Given the description of an element on the screen output the (x, y) to click on. 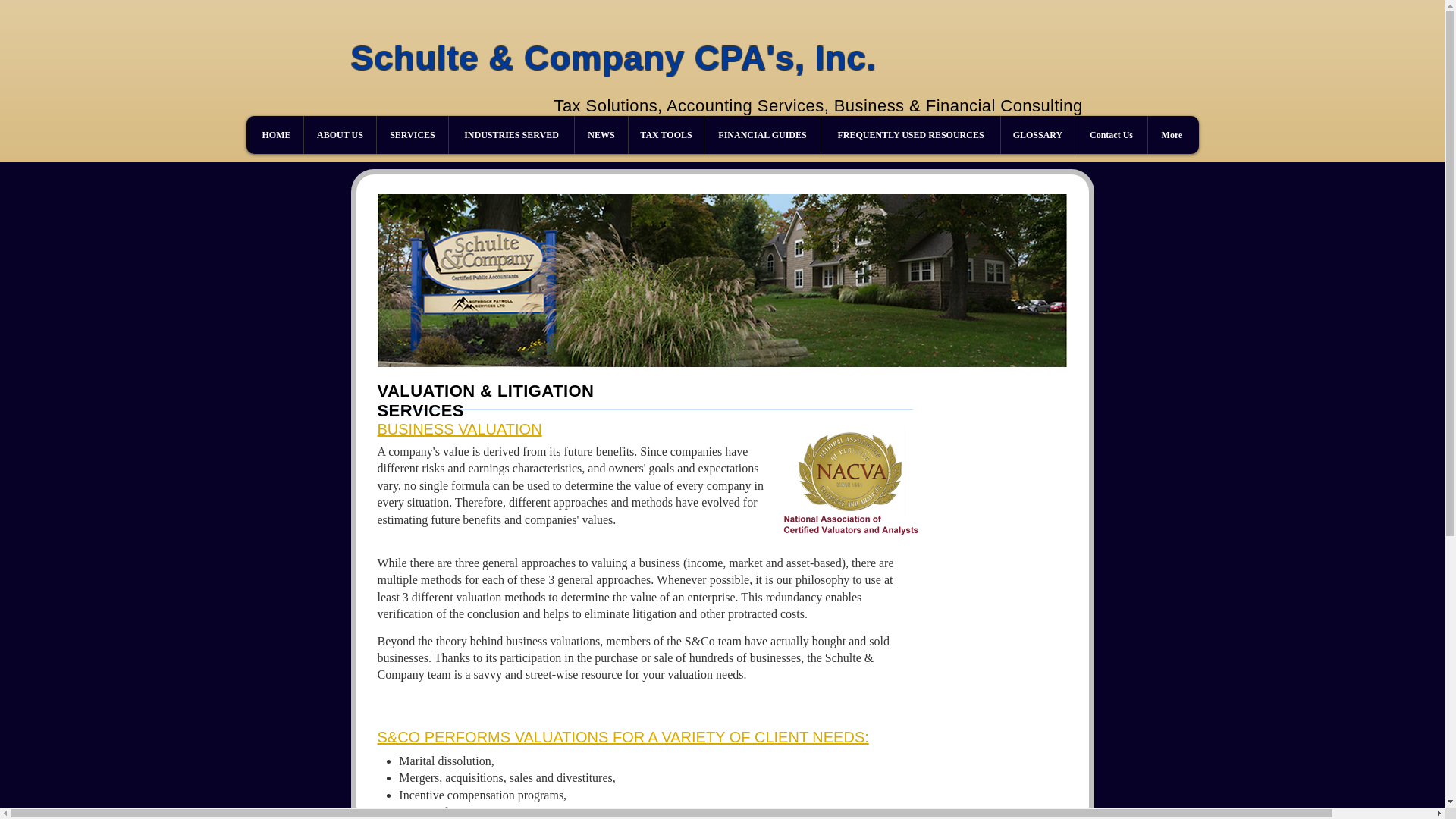
HOME (275, 134)
NACVA-logo.png (850, 481)
